Given the description of an element on the screen output the (x, y) to click on. 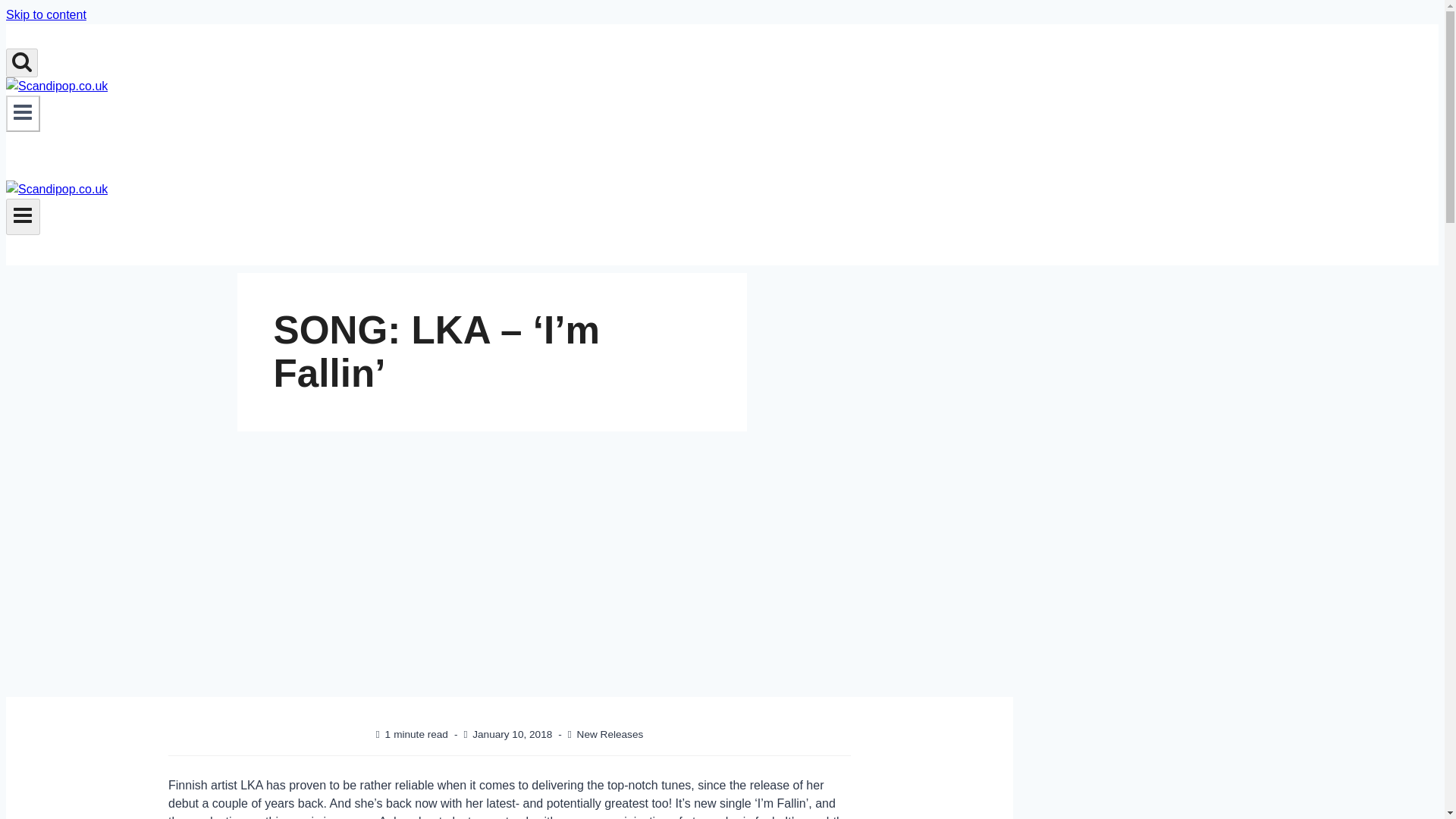
Search (21, 61)
Search (21, 62)
New Releases (609, 734)
Skip to content (45, 14)
Skip to content (45, 14)
Toggle Menu (22, 113)
Toggle Menu (22, 217)
